Given the description of an element on the screen output the (x, y) to click on. 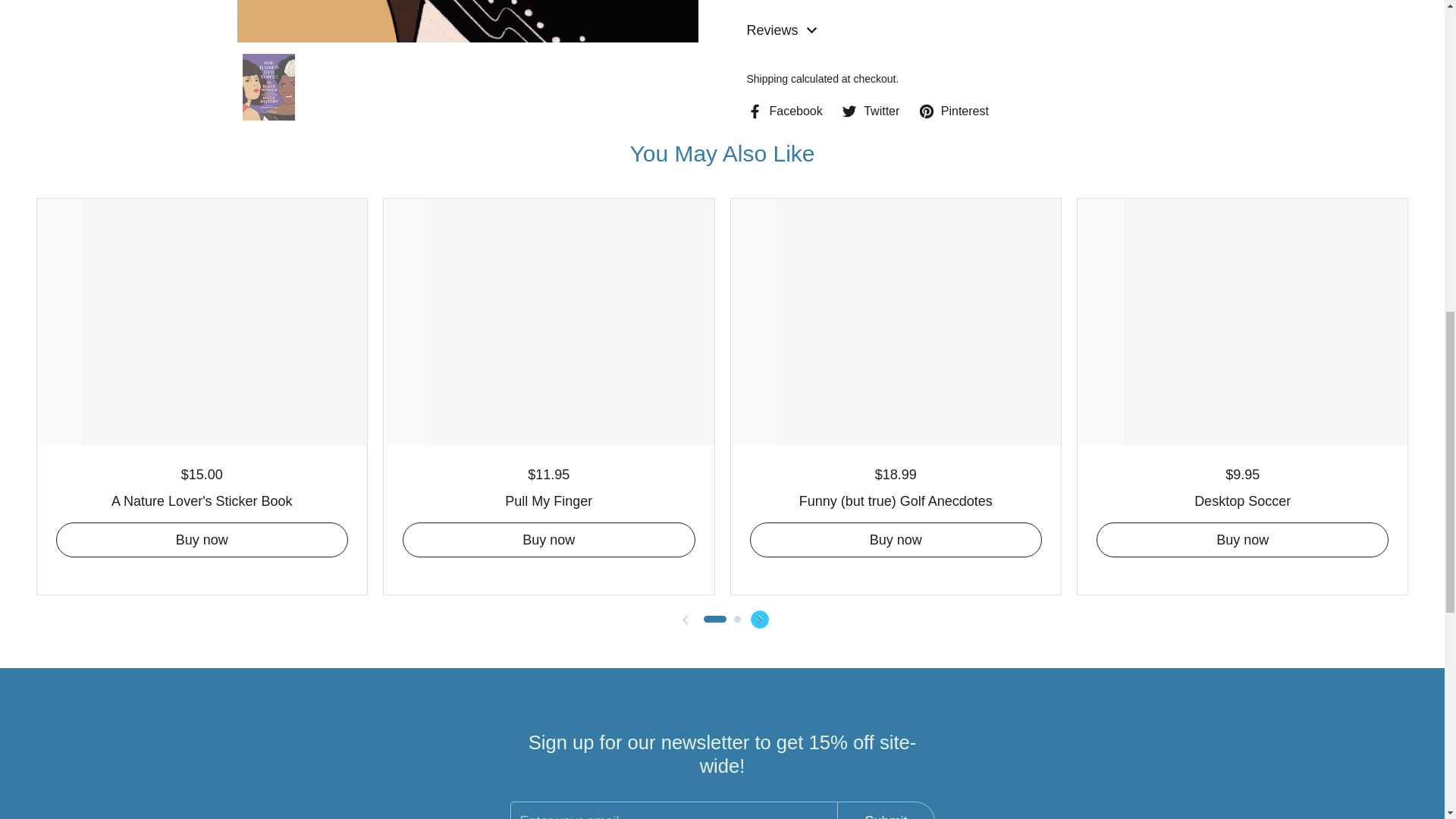
A Nature Lover's Sticker Book (202, 498)
Pull My Finger (548, 498)
Share on facebook (783, 111)
Desktop Soccer (1241, 498)
Share on pinterest (953, 111)
Share on twitter (870, 111)
